Given the description of an element on the screen output the (x, y) to click on. 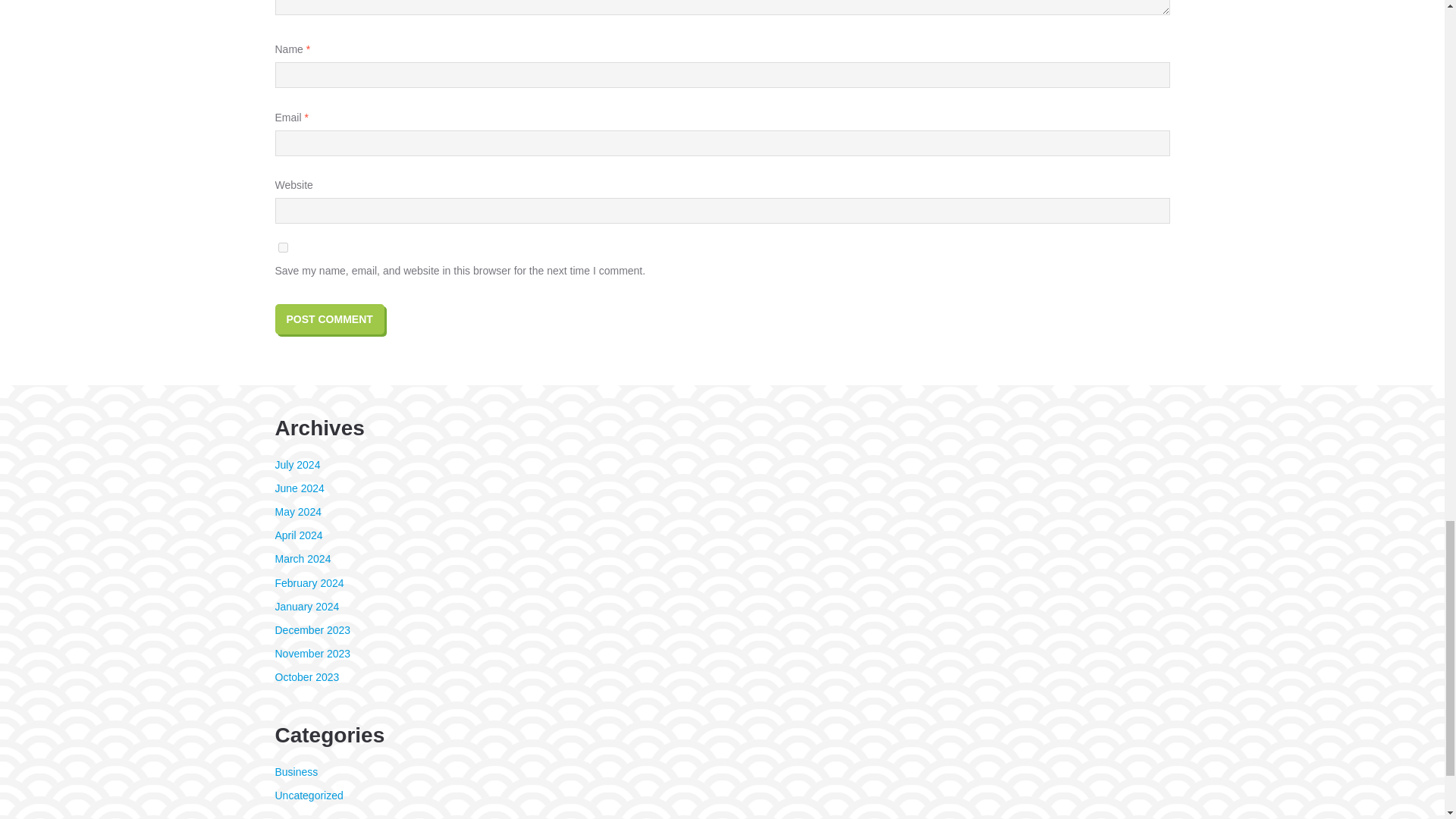
May 2024 (297, 511)
July 2024 (297, 464)
Post Comment (329, 318)
yes (282, 247)
Post Comment (329, 318)
June 2024 (299, 488)
